Given the description of an element on the screen output the (x, y) to click on. 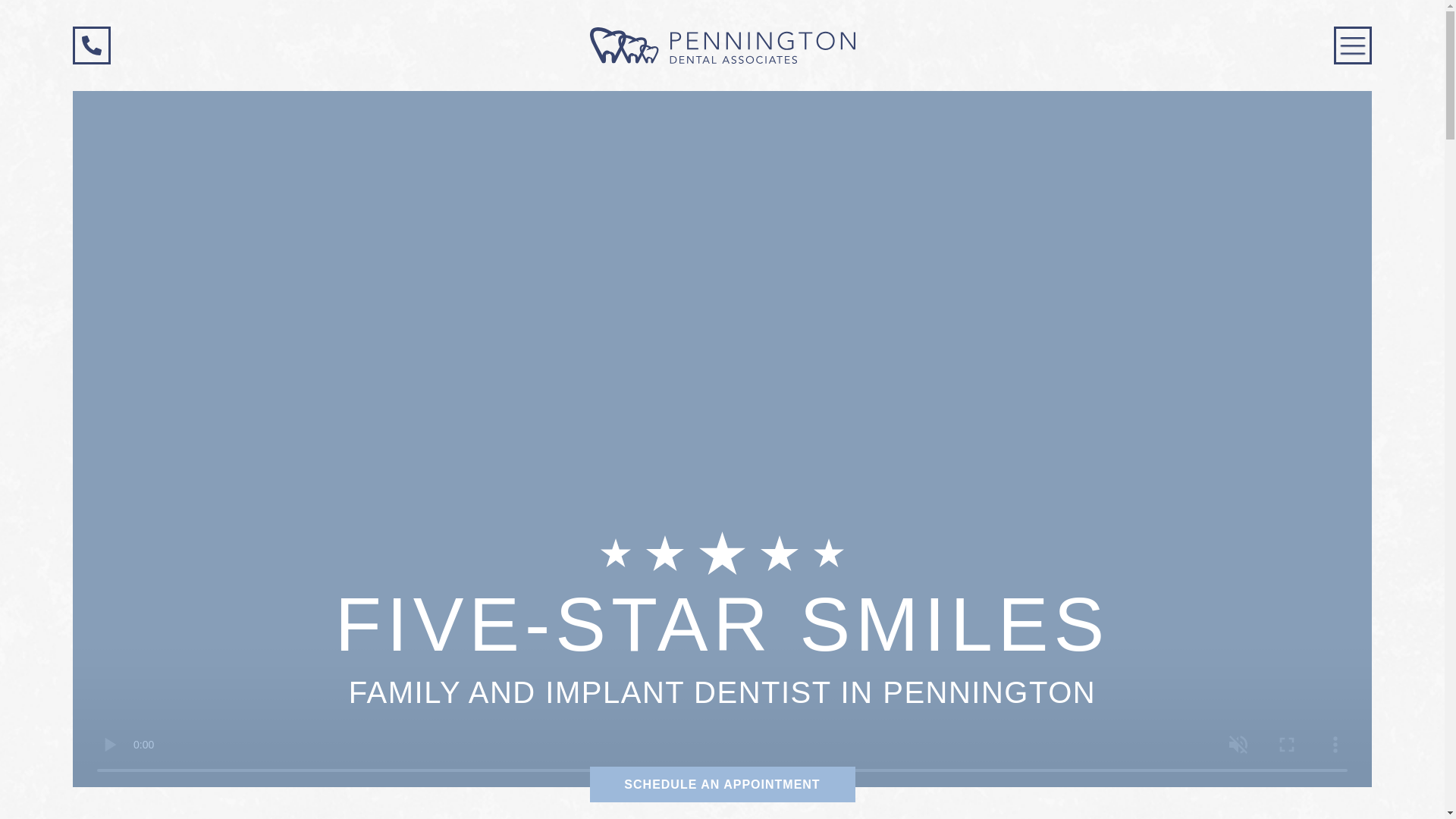
SCHEDULE AN APPOINTMENT (722, 784)
